Given the description of an element on the screen output the (x, y) to click on. 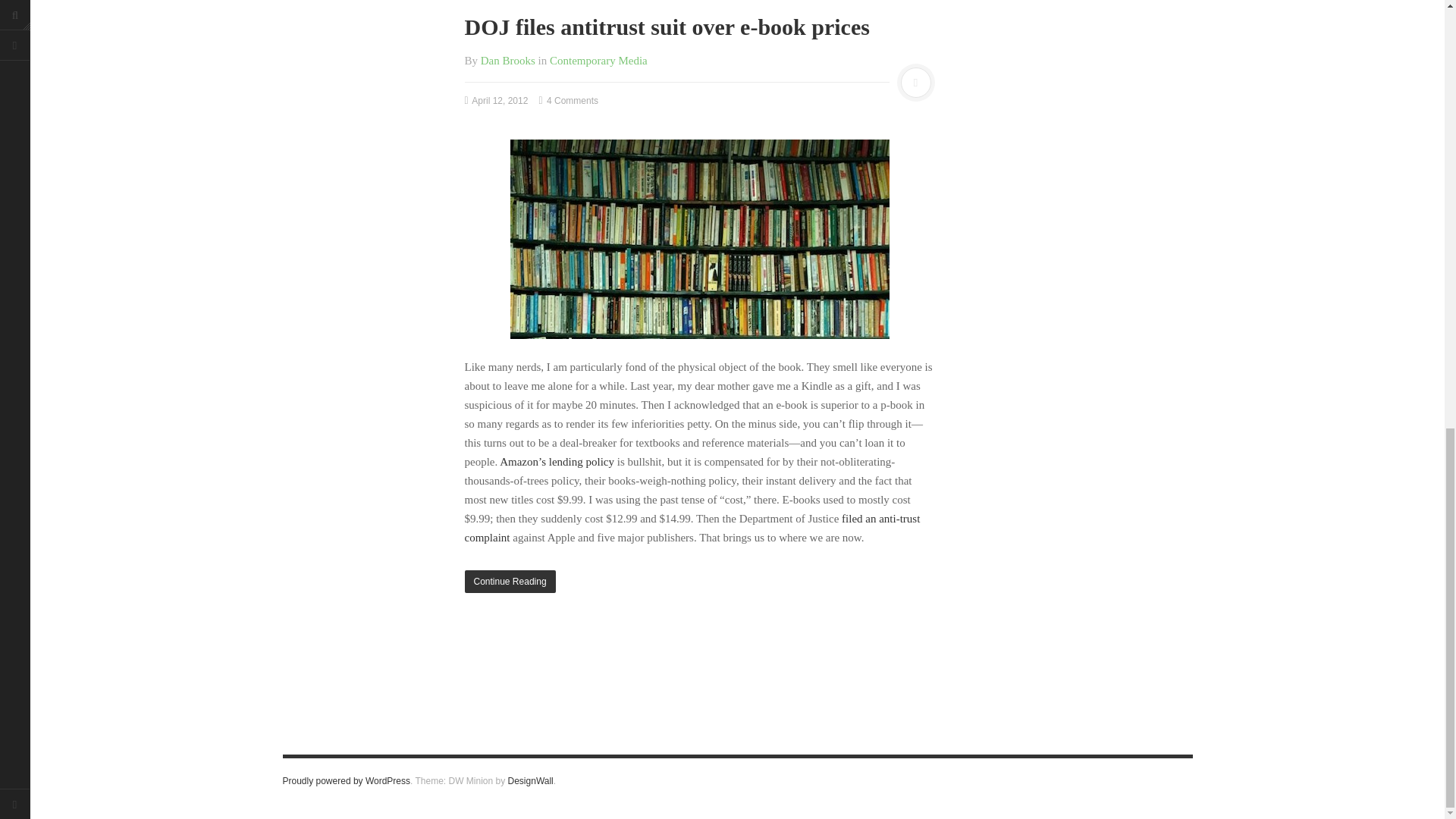
Proudly powered by WordPress (346, 780)
The Latin Quarter, Paris, France (698, 239)
April 12, 2012 (495, 100)
DOJ files antitrust suit over e-book prices (666, 26)
A Semantic Personal Publishing Platform (346, 780)
filed an anti-trust complaint (692, 527)
Dan Brooks (507, 60)
Contemporary Media (598, 60)
View all posts by Dan Brooks (507, 60)
Continue Reading (699, 581)
